Given the description of an element on the screen output the (x, y) to click on. 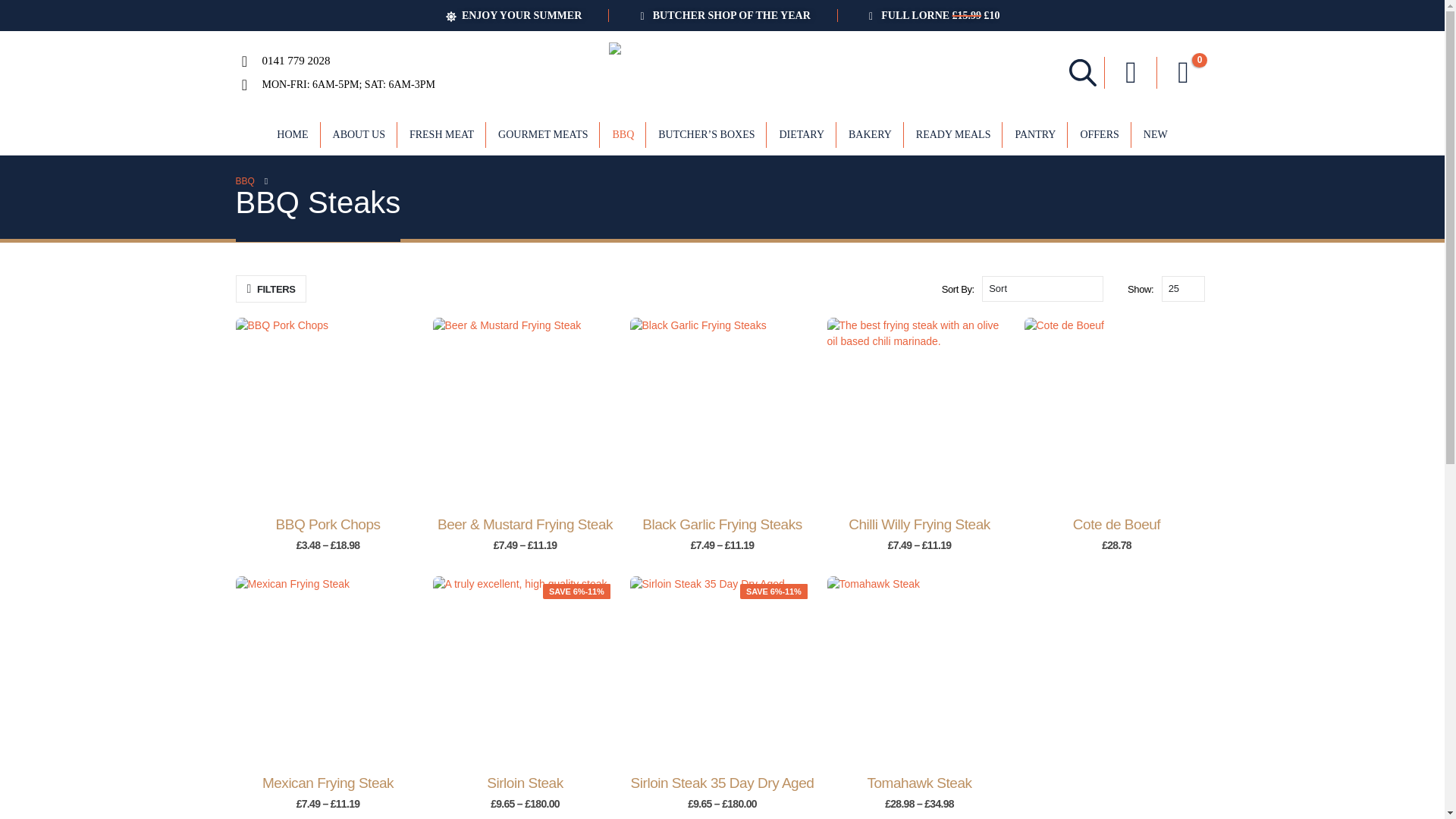
My Account (1130, 72)
ABOUT US (359, 135)
ENJOY YOUR SUMMER (512, 15)
HOME (292, 135)
MON-FRI: 6AM-5PM; SAT: 6AM-3PM (348, 84)
BUTCHER SHOP OF THE YEAR (721, 15)
FRESH MEAT (441, 135)
0141 779 2028 (296, 60)
